Given the description of an element on the screen output the (x, y) to click on. 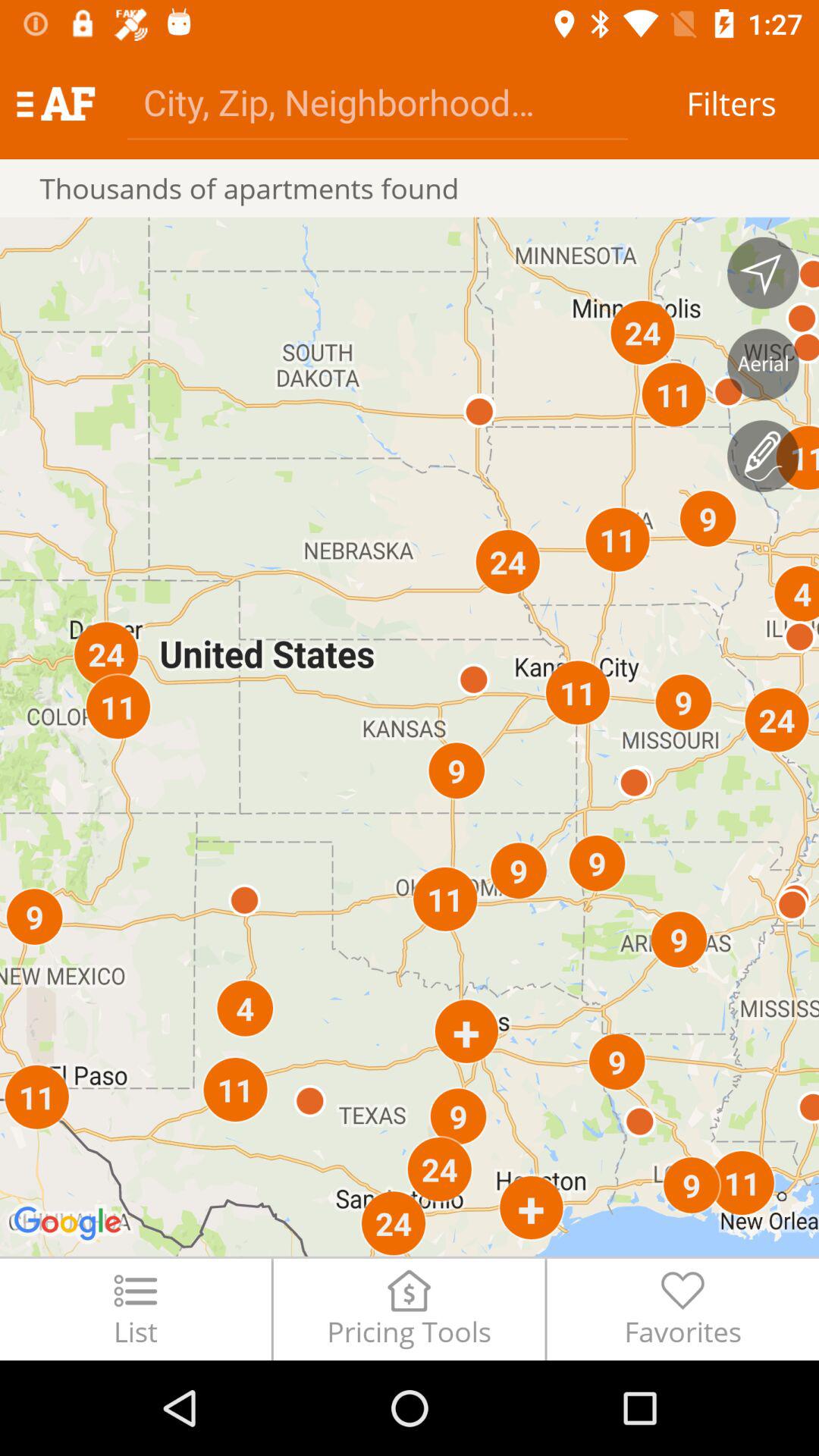
swipe until the favorites item (683, 1309)
